Given the description of an element on the screen output the (x, y) to click on. 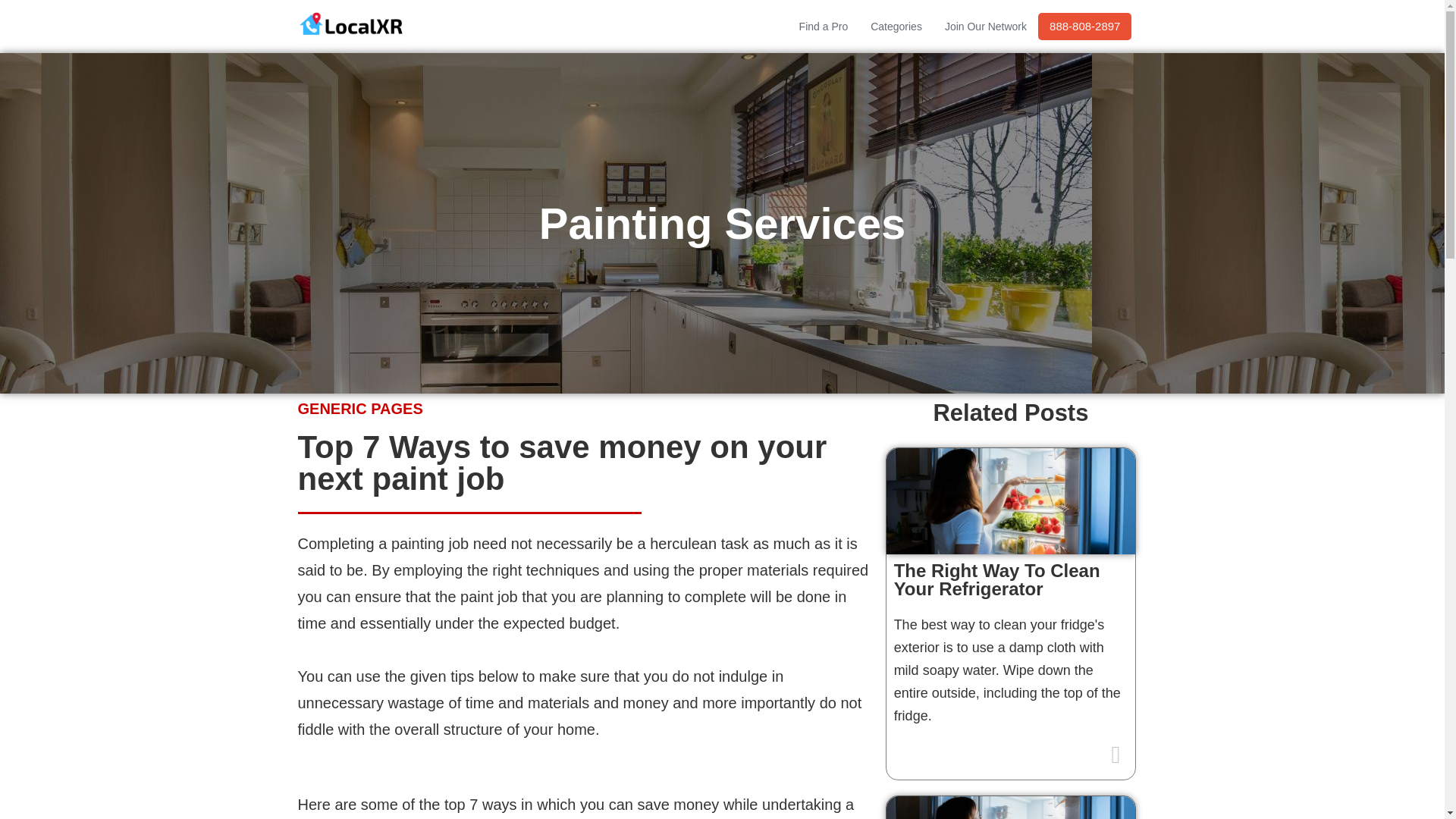
Find a Pro (823, 26)
Join Our Network (985, 26)
Categories (896, 26)
888-808-2897 (1084, 26)
GENERIC PAGES (359, 408)
